Given the description of an element on the screen output the (x, y) to click on. 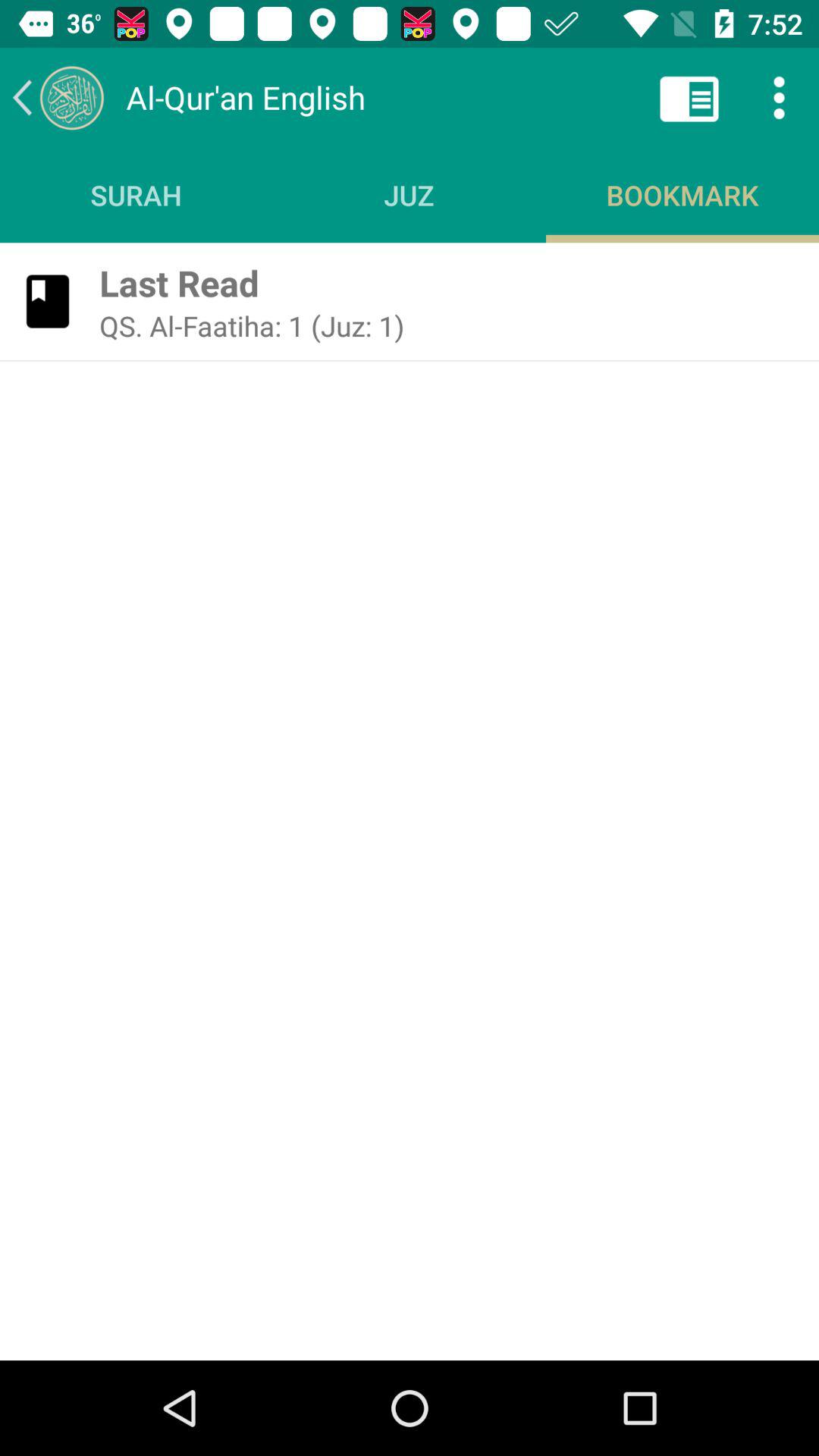
turn off the icon above the surah icon (58, 97)
